Given the description of an element on the screen output the (x, y) to click on. 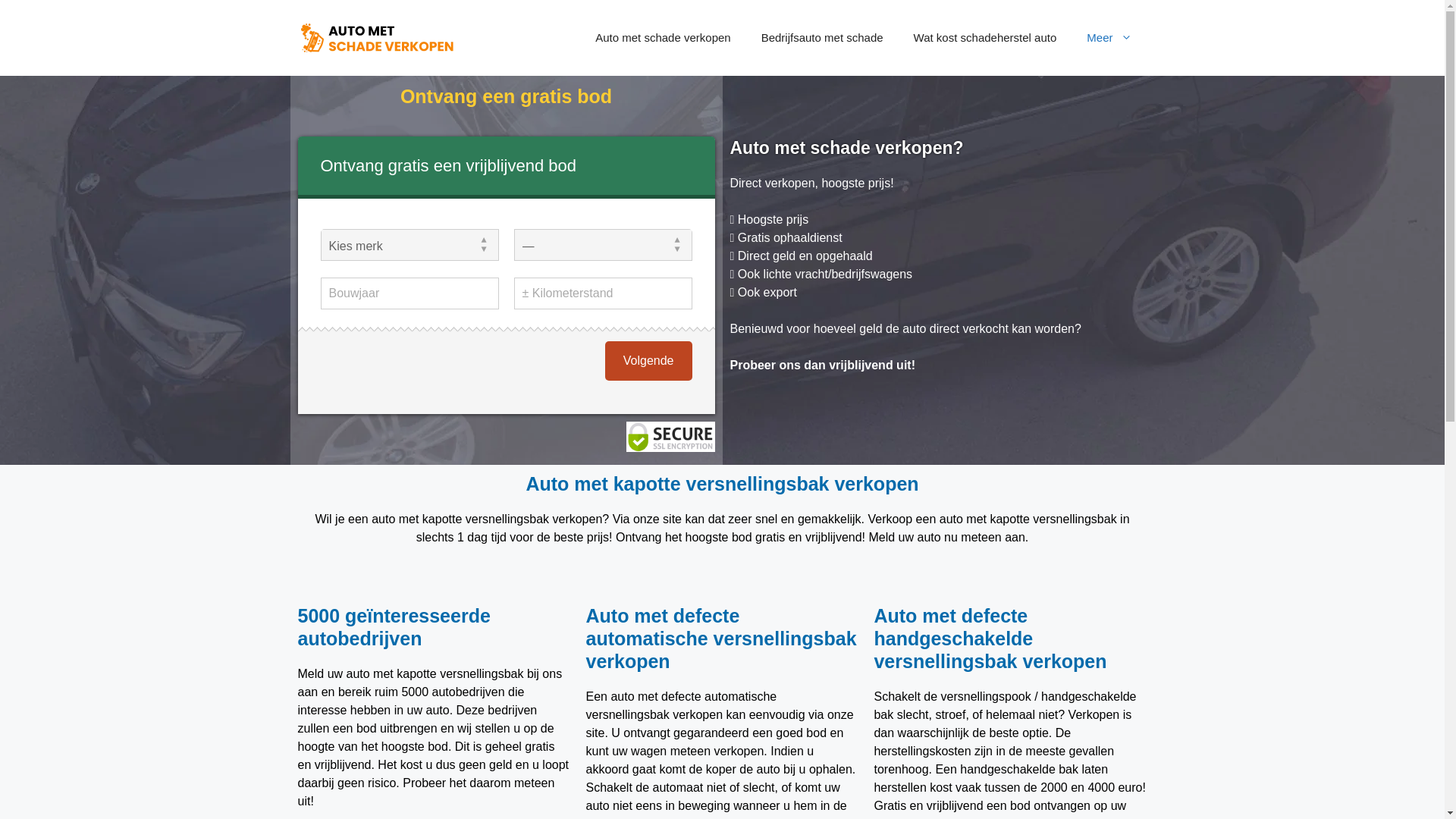
Bedrijfsauto met schade Element type: text (822, 37)
Volgende Element type: text (648, 360)
Auto met schade verkopen Element type: text (662, 37)
Auto met schade verkopen Element type: hover (376, 36)
Wat kost schadeherstel auto Element type: text (985, 37)
Auto met schade verkopen Element type: hover (376, 37)
Meer Element type: text (1108, 37)
